Given the description of an element on the screen output the (x, y) to click on. 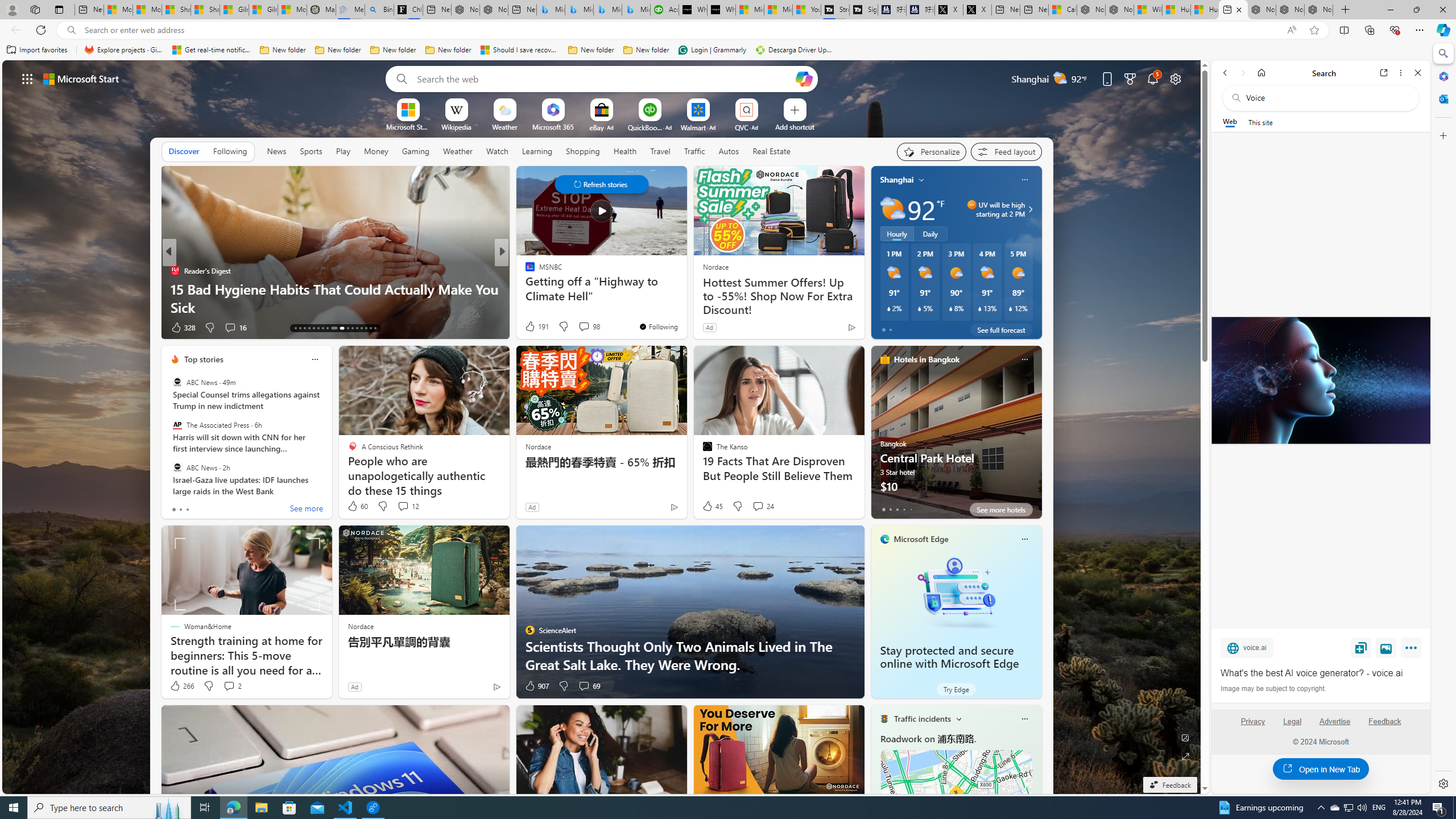
Advertise (1335, 721)
Manatee Mortality Statistics | FWC (320, 9)
What's the best AI voice generator? - voice.ai (1320, 673)
Feedback (1384, 725)
The Associated Press (176, 424)
Nordace - Best Sellers (1262, 9)
Are Humans the First Civilization_ The Silurian Hypothesis (684, 298)
Add a site (793, 126)
Play (342, 151)
View comments 4 Comment (580, 327)
Legal (1291, 721)
